Given the description of an element on the screen output the (x, y) to click on. 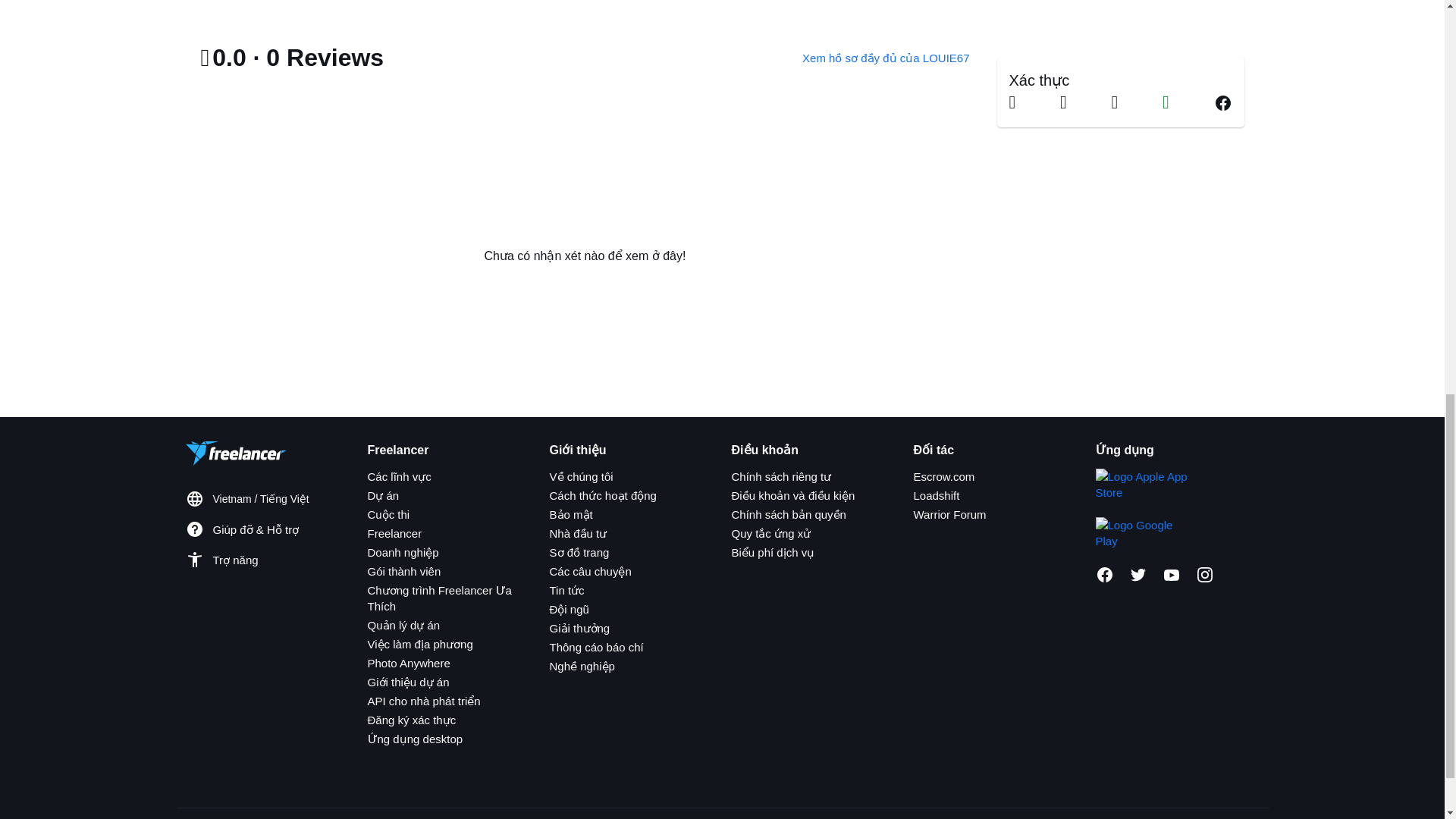
Facebook (1103, 574)
Freelancer (394, 533)
Twitter (1137, 574)
YouTube (1170, 574)
Photo Anywhere (407, 662)
Instagram (1203, 574)
